Given the description of an element on the screen output the (x, y) to click on. 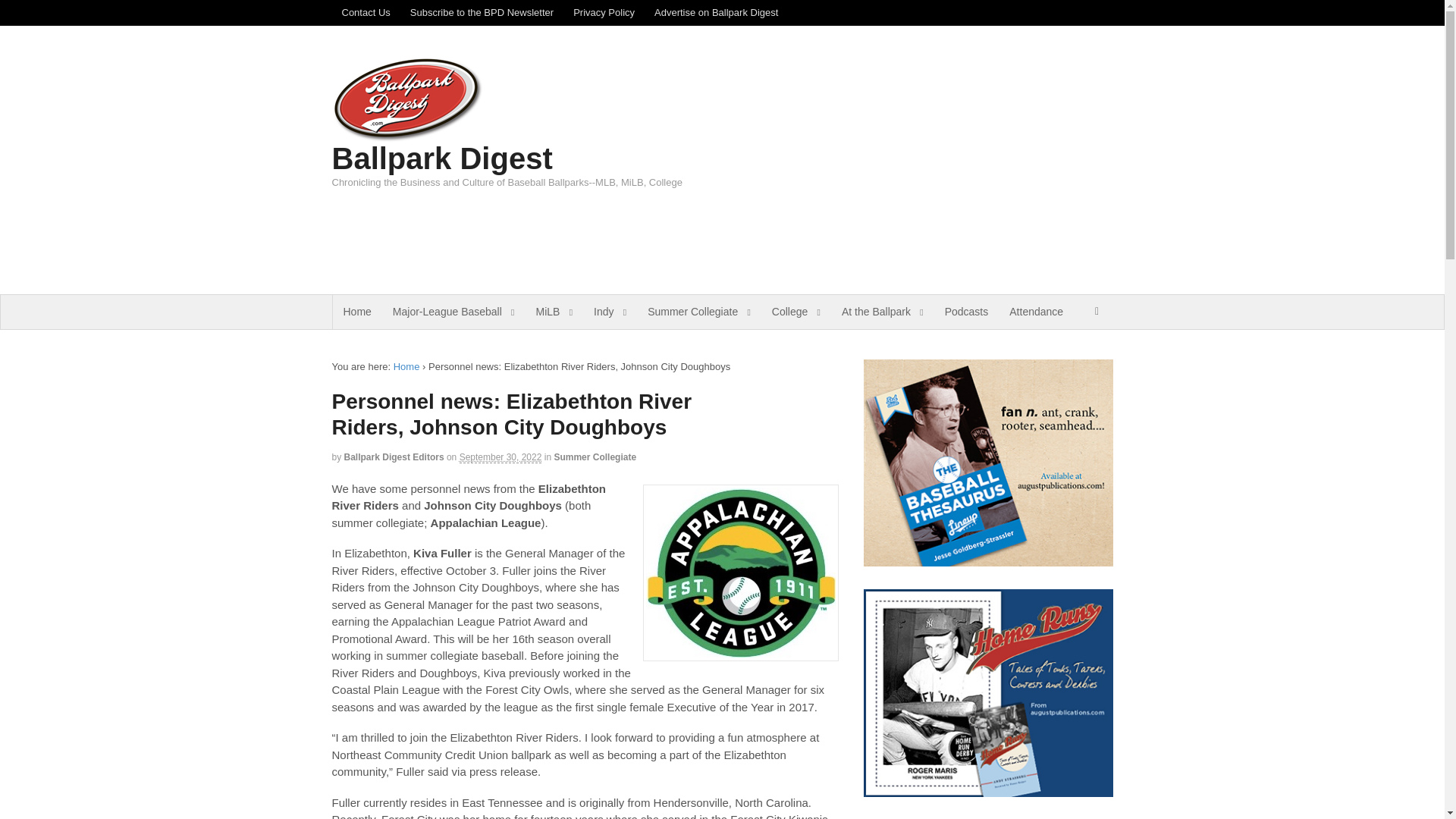
Privacy Policy (604, 12)
Subscribe to the BPD Newsletter (481, 12)
Home (356, 311)
Ballpark Digest (406, 366)
Advertise on Ballpark Digest (716, 12)
Podcasts (966, 311)
Ballpark Digest Editors (393, 457)
Contact Us (365, 12)
Indy (610, 311)
